Given the description of an element on the screen output the (x, y) to click on. 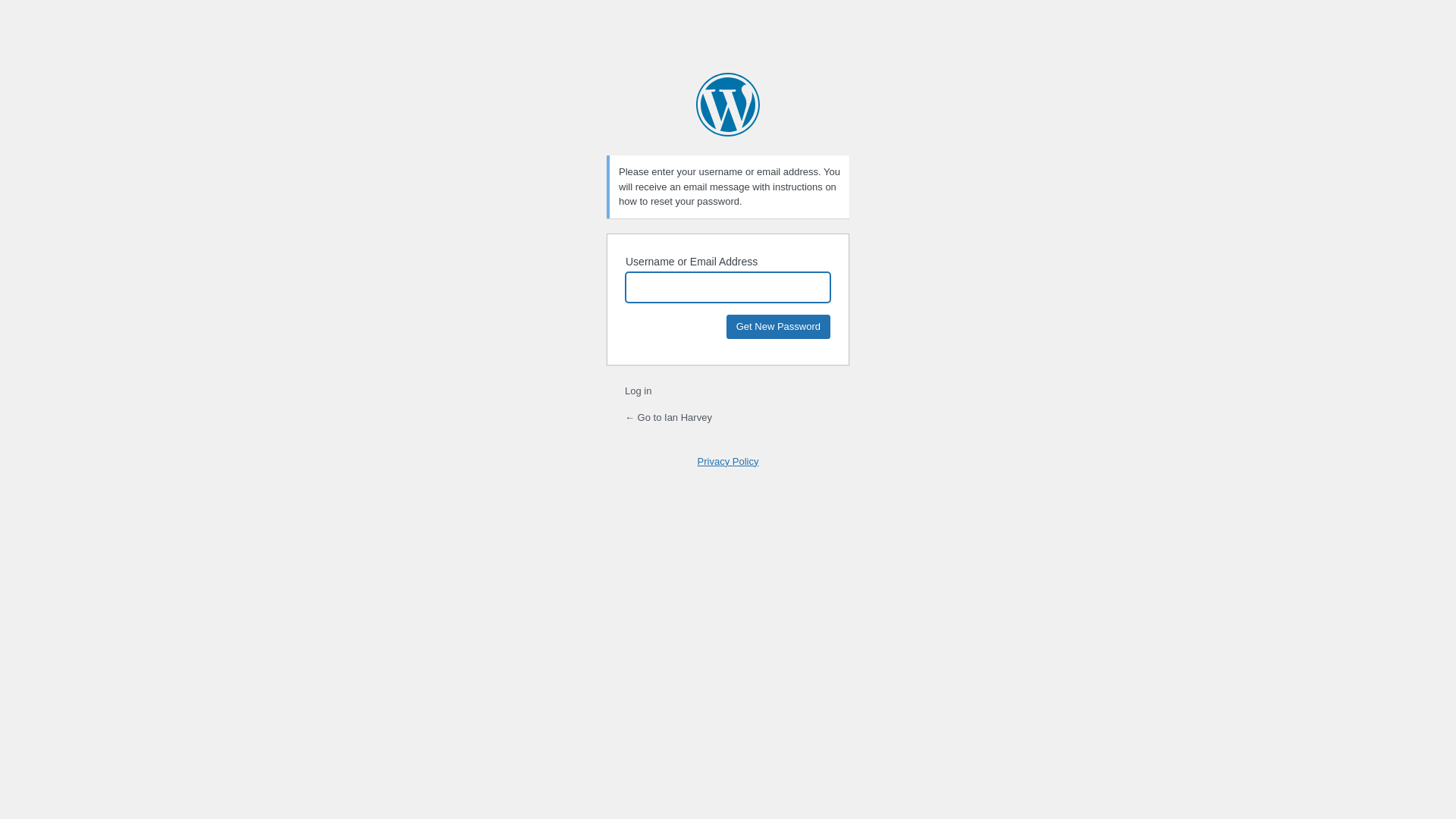
Powered by WordPress Element type: text (727, 104)
Privacy Policy Element type: text (728, 460)
Get New Password Element type: text (778, 325)
Log in Element type: text (637, 390)
